Given the description of an element on the screen output the (x, y) to click on. 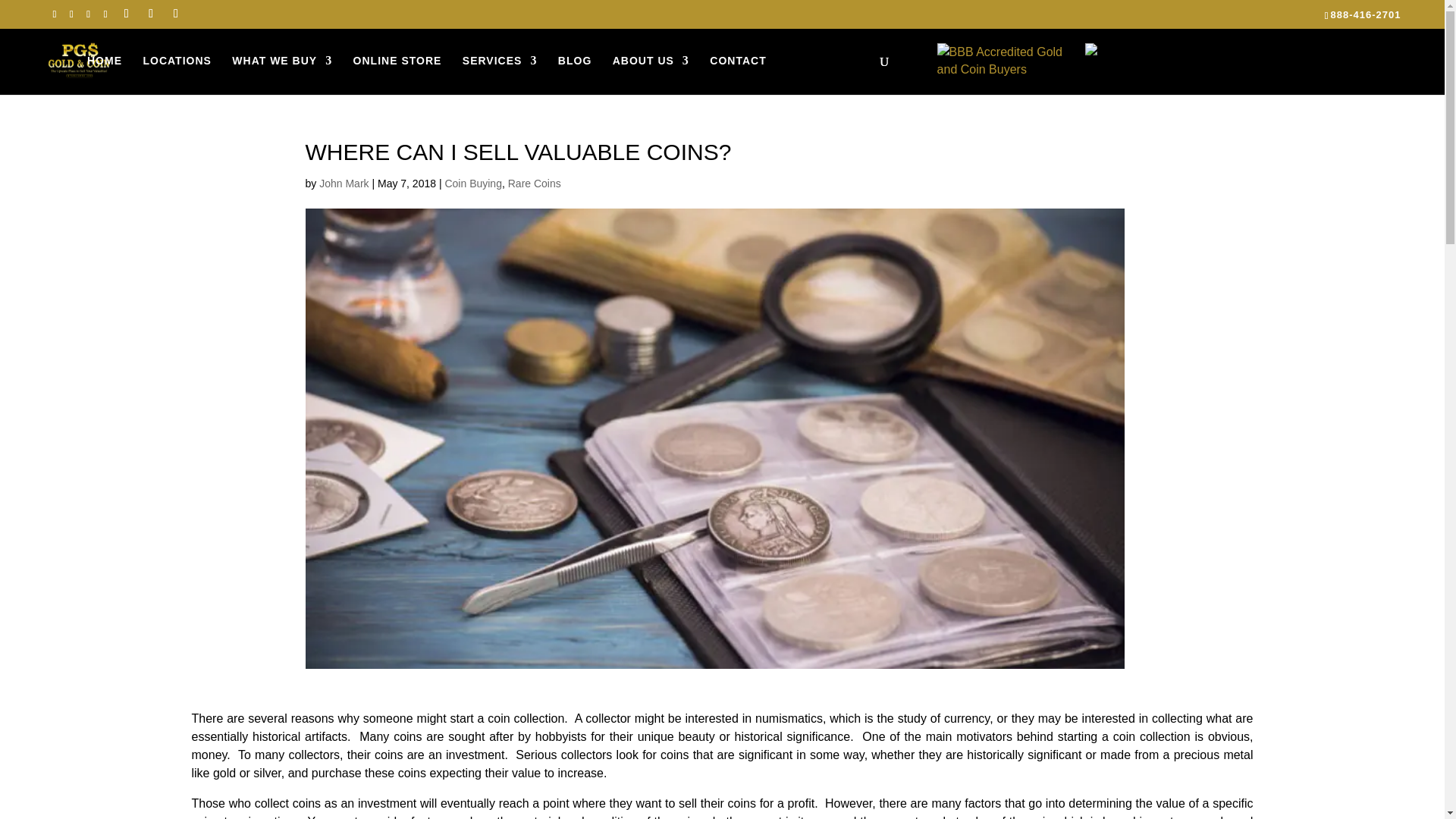
Posts by John Mark (343, 183)
LOCATIONS (176, 59)
WHAT WE BUY (281, 59)
888-416-2701 (1365, 14)
HOME (104, 59)
bbb-a-plus-accredited-logo (1005, 59)
